Given the description of an element on the screen output the (x, y) to click on. 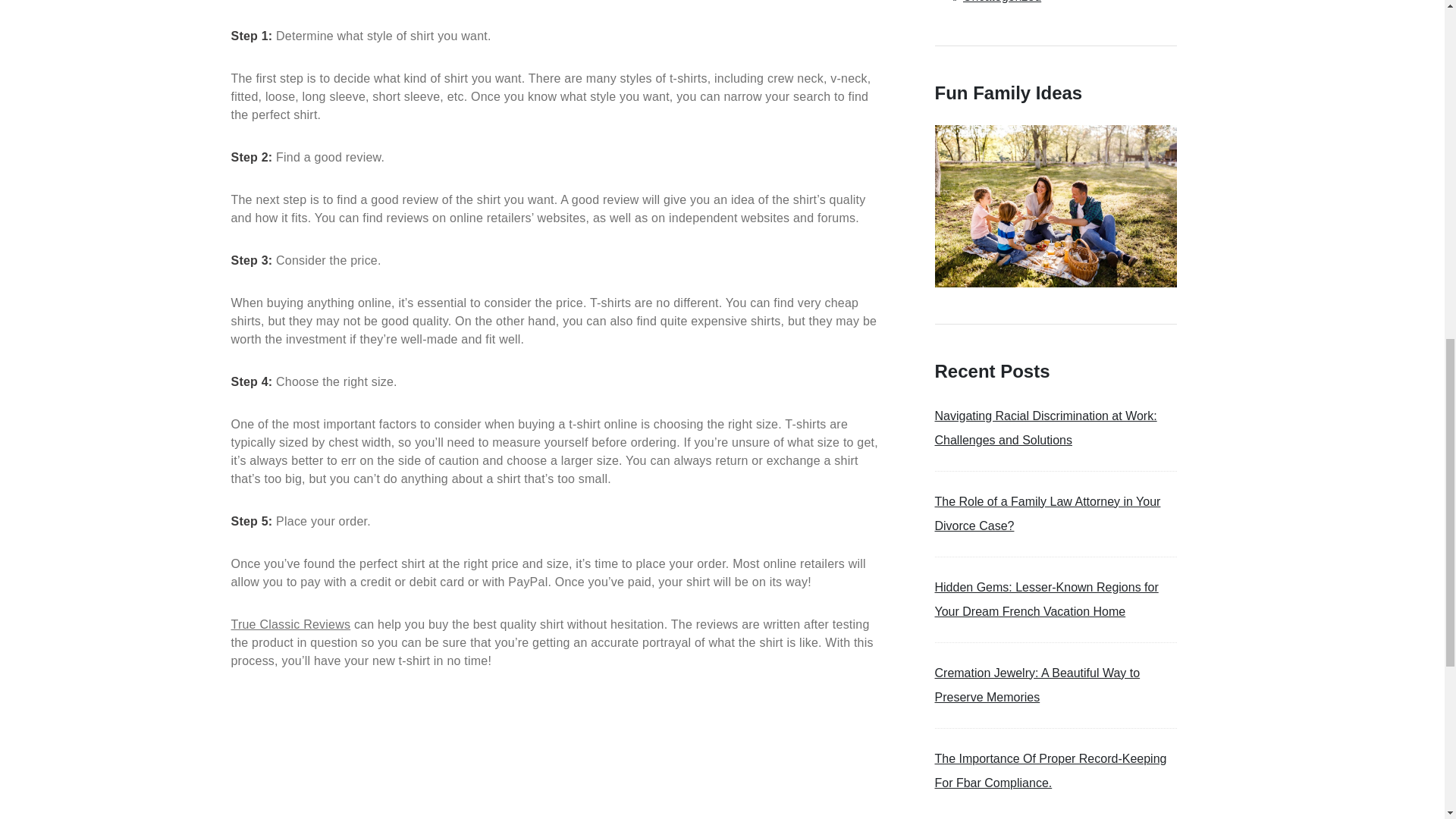
True Classic Reviews (290, 624)
